Given the description of an element on the screen output the (x, y) to click on. 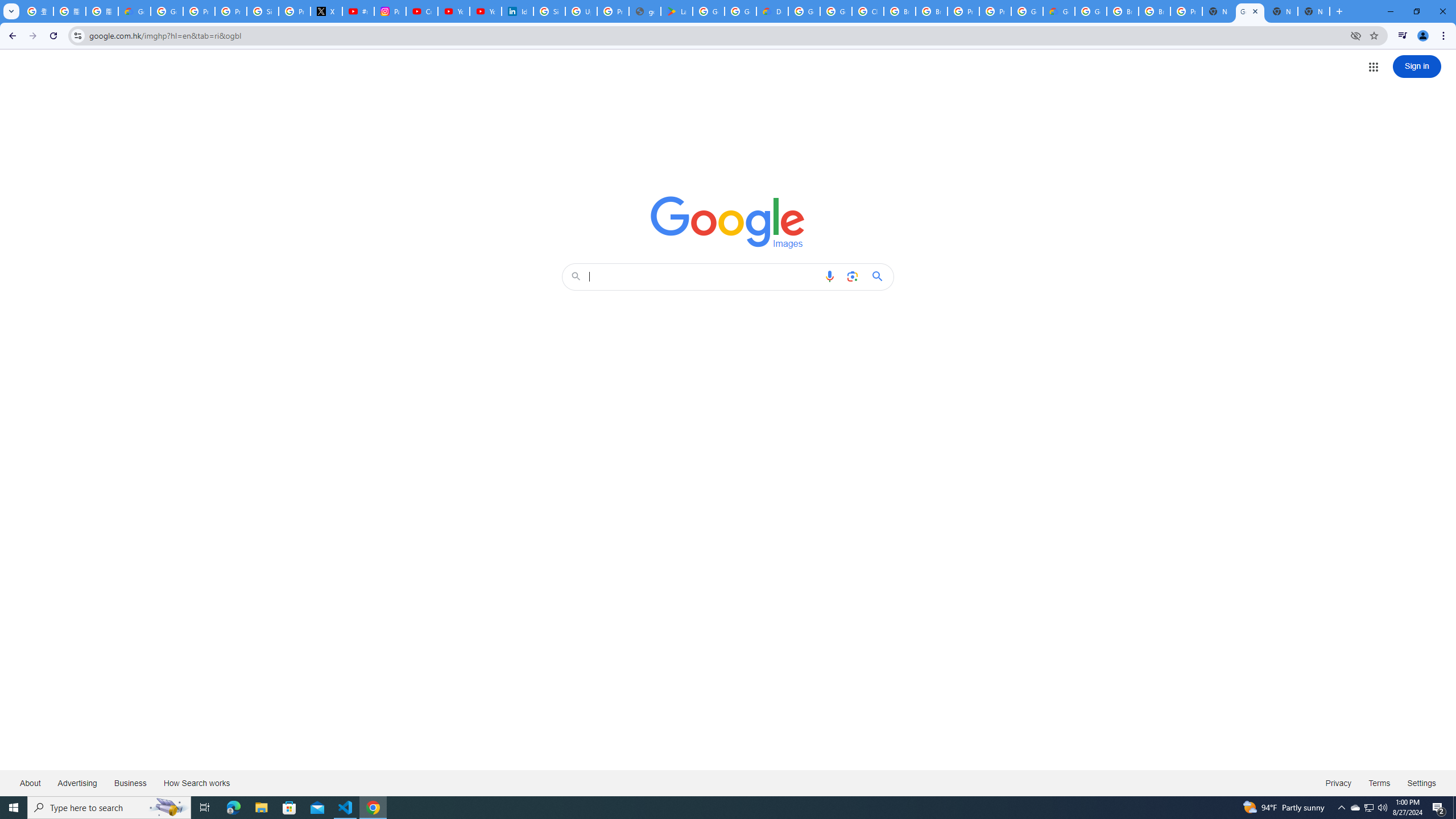
Advertising (77, 782)
Browse Chrome as a guest - Computer - Google Chrome Help (899, 11)
New Tab (1217, 11)
Google Images (727, 222)
Browse Chrome as a guest - Computer - Google Chrome Help (1123, 11)
YouTube Culture & Trends - YouTube Top 10, 2021 (485, 11)
